Given the description of an element on the screen output the (x, y) to click on. 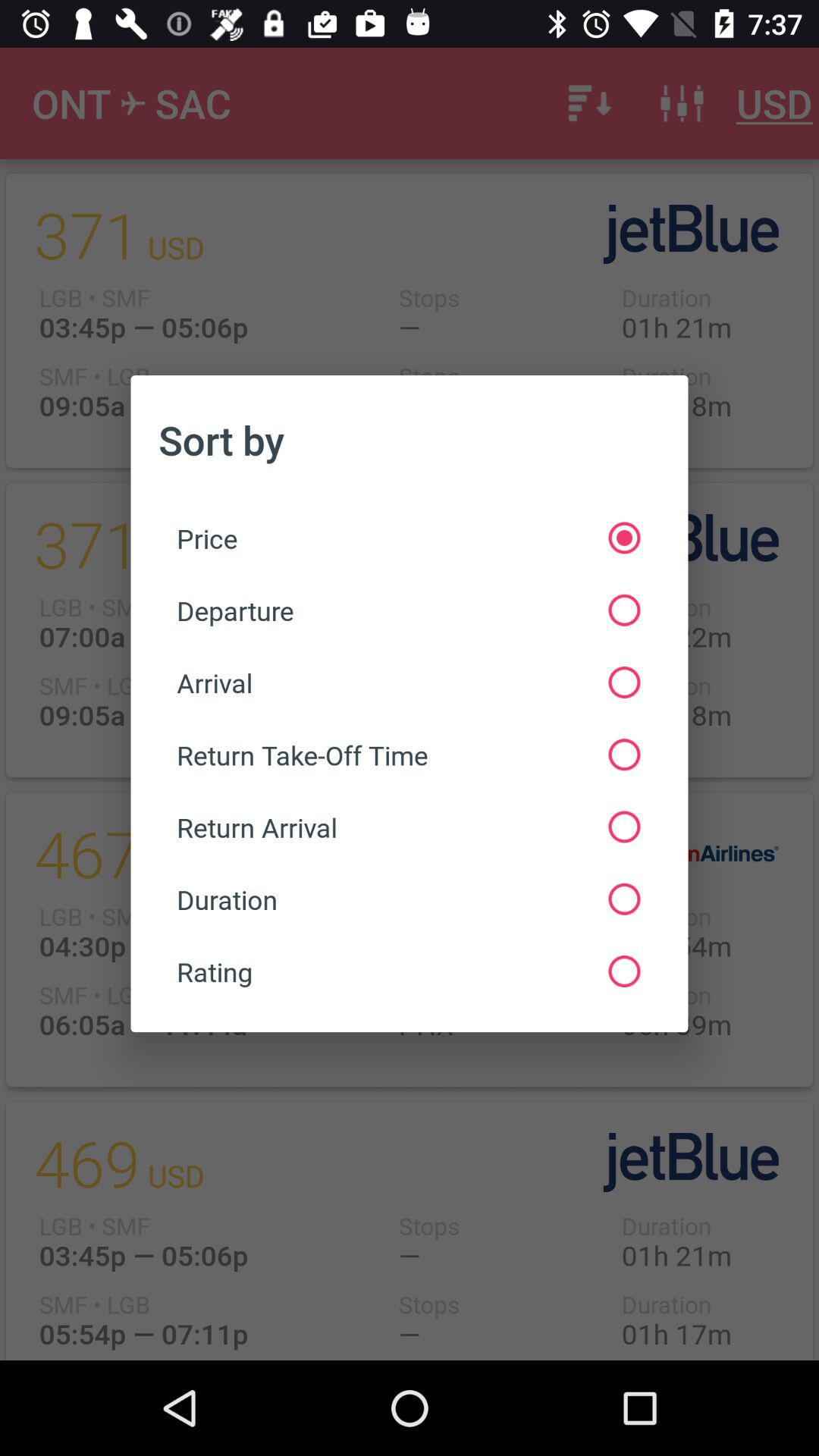
turn on item below return arrival (408, 899)
